Given the description of an element on the screen output the (x, y) to click on. 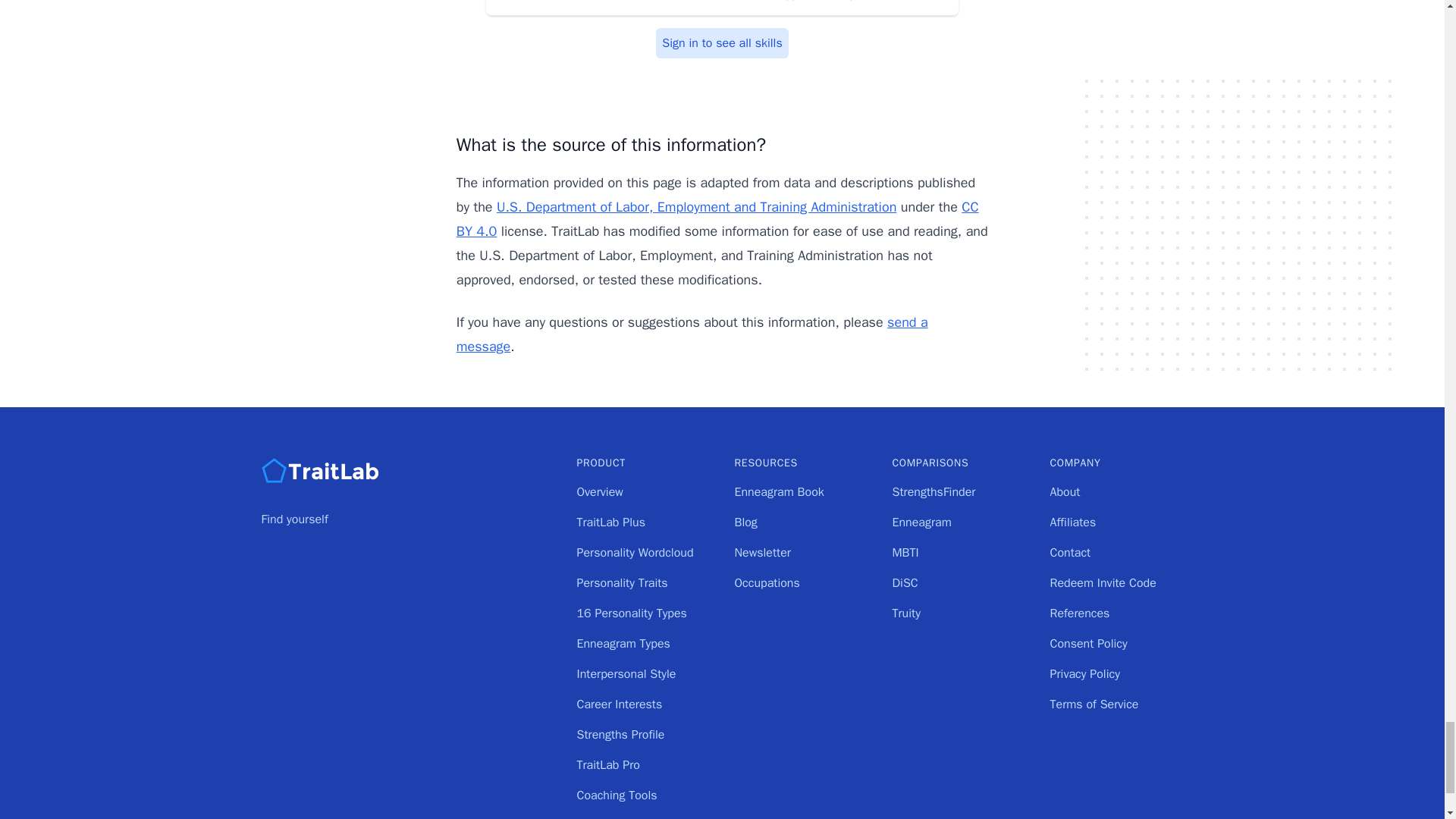
Personality Traits (621, 582)
Personality Wordcloud (634, 552)
CC BY 4.0 (717, 219)
send a message (692, 333)
16 Personality Types (630, 613)
Career Interests (619, 703)
TraitLab Plus (610, 522)
Overview (599, 491)
Sign in to see all skills (721, 42)
Enneagram Types (622, 643)
Interpersonal Style (625, 673)
